Given the description of an element on the screen output the (x, y) to click on. 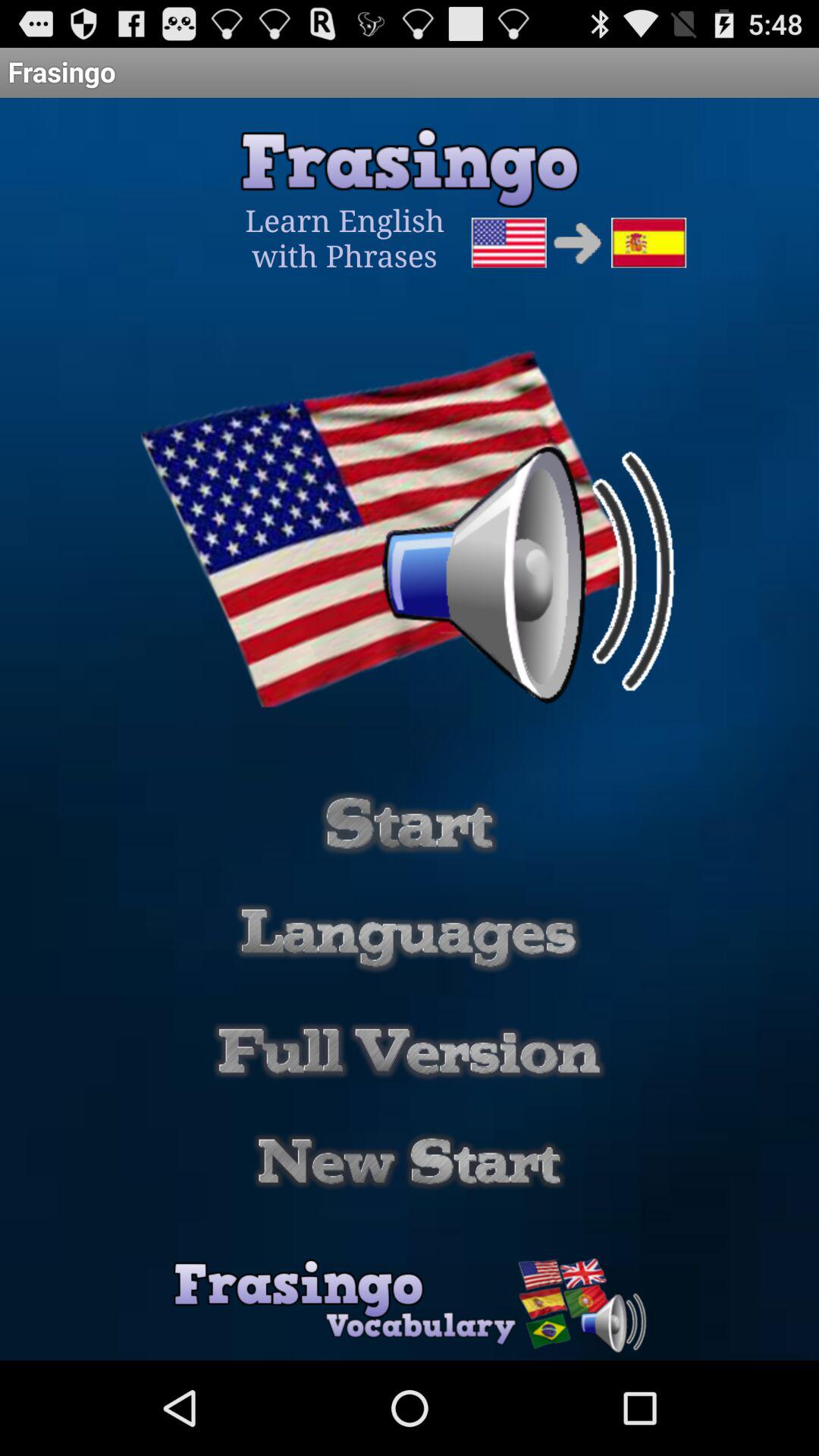
go to new start (409, 1161)
